Given the description of an element on the screen output the (x, y) to click on. 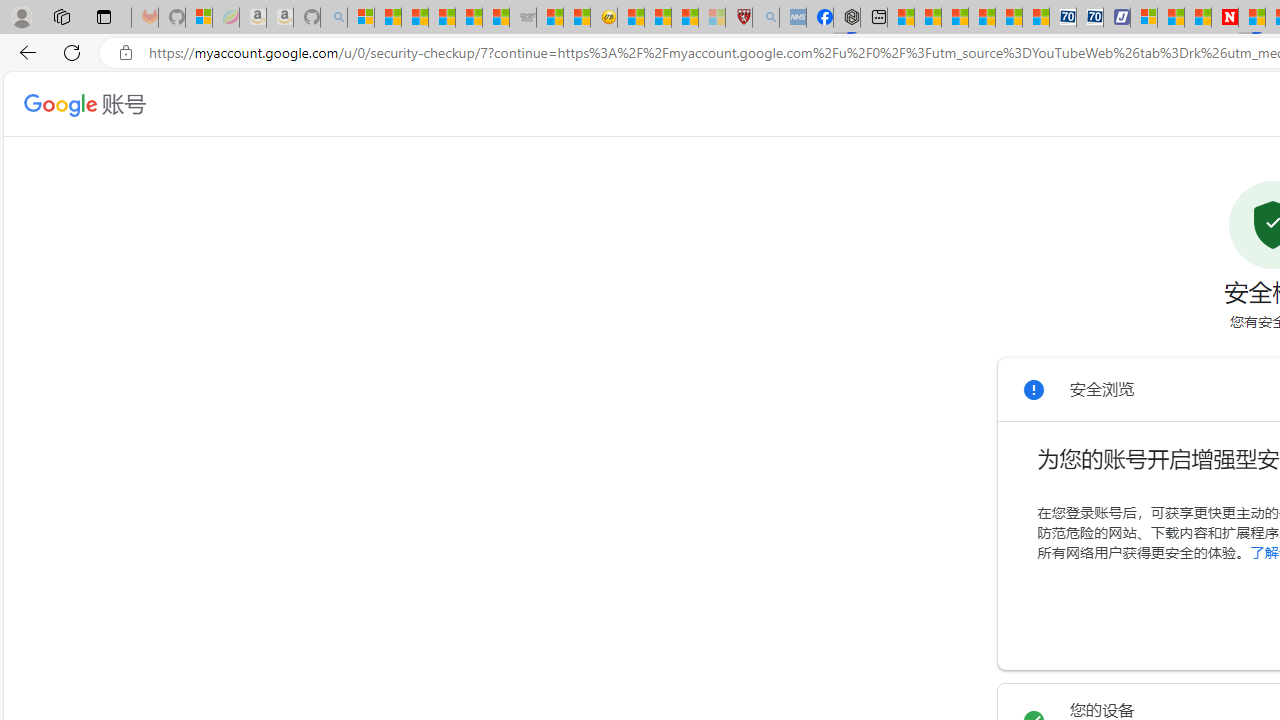
Cheap Car Rentals - Save70.com (1062, 17)
Cheap Hotels - Save70.com (1089, 17)
Recipes - MSN (630, 17)
The Weather Channel - MSN (414, 17)
